Given the description of an element on the screen output the (x, y) to click on. 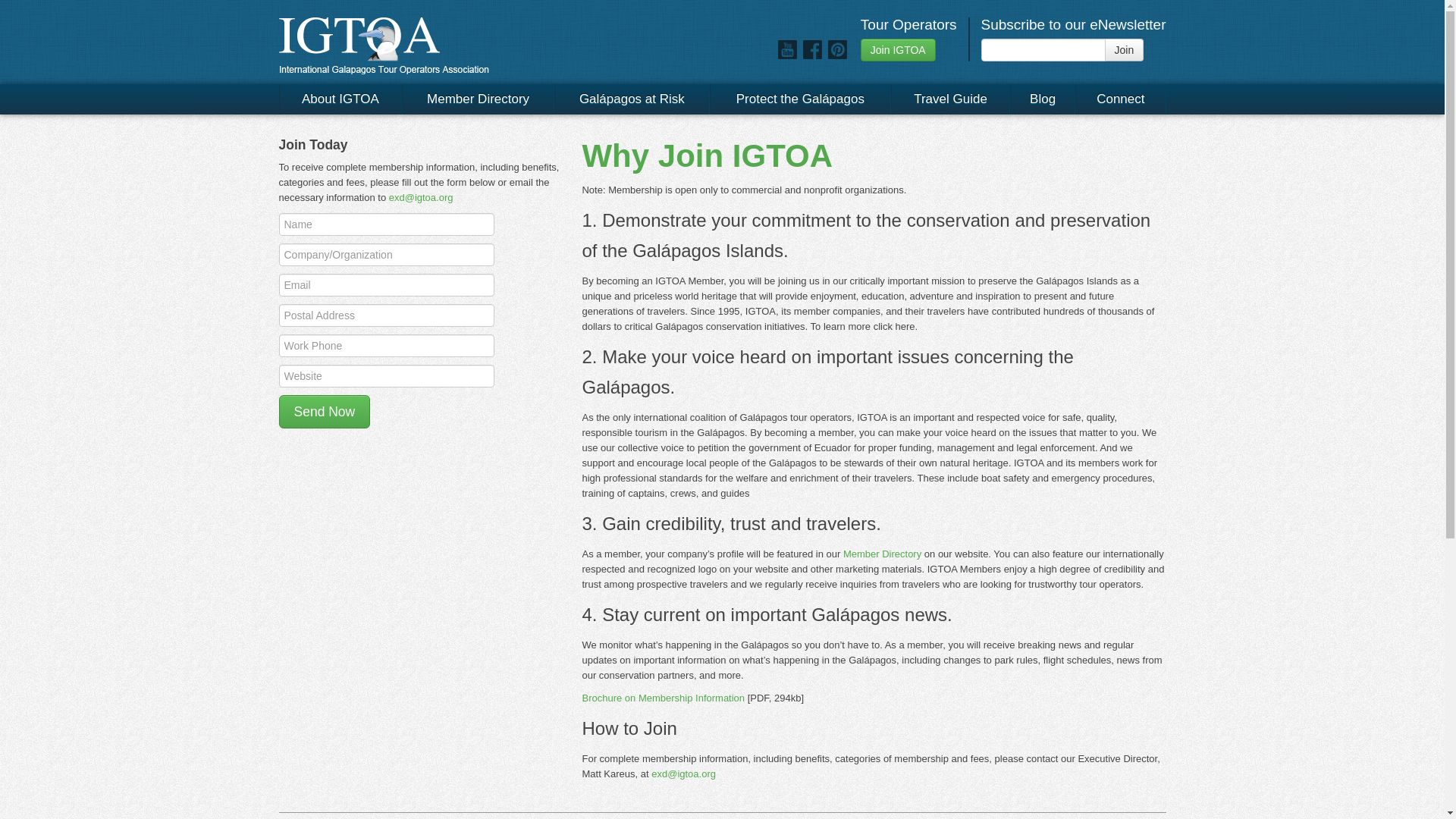
Member Directory (882, 553)
Join IGTOA (898, 49)
Join (1124, 49)
Member Directory (477, 99)
Blog (1042, 99)
Brochure on Membership Information (662, 697)
Send Now (325, 411)
Connect (1120, 99)
About IGTOA (341, 99)
Travel Guide (950, 99)
